Given the description of an element on the screen output the (x, y) to click on. 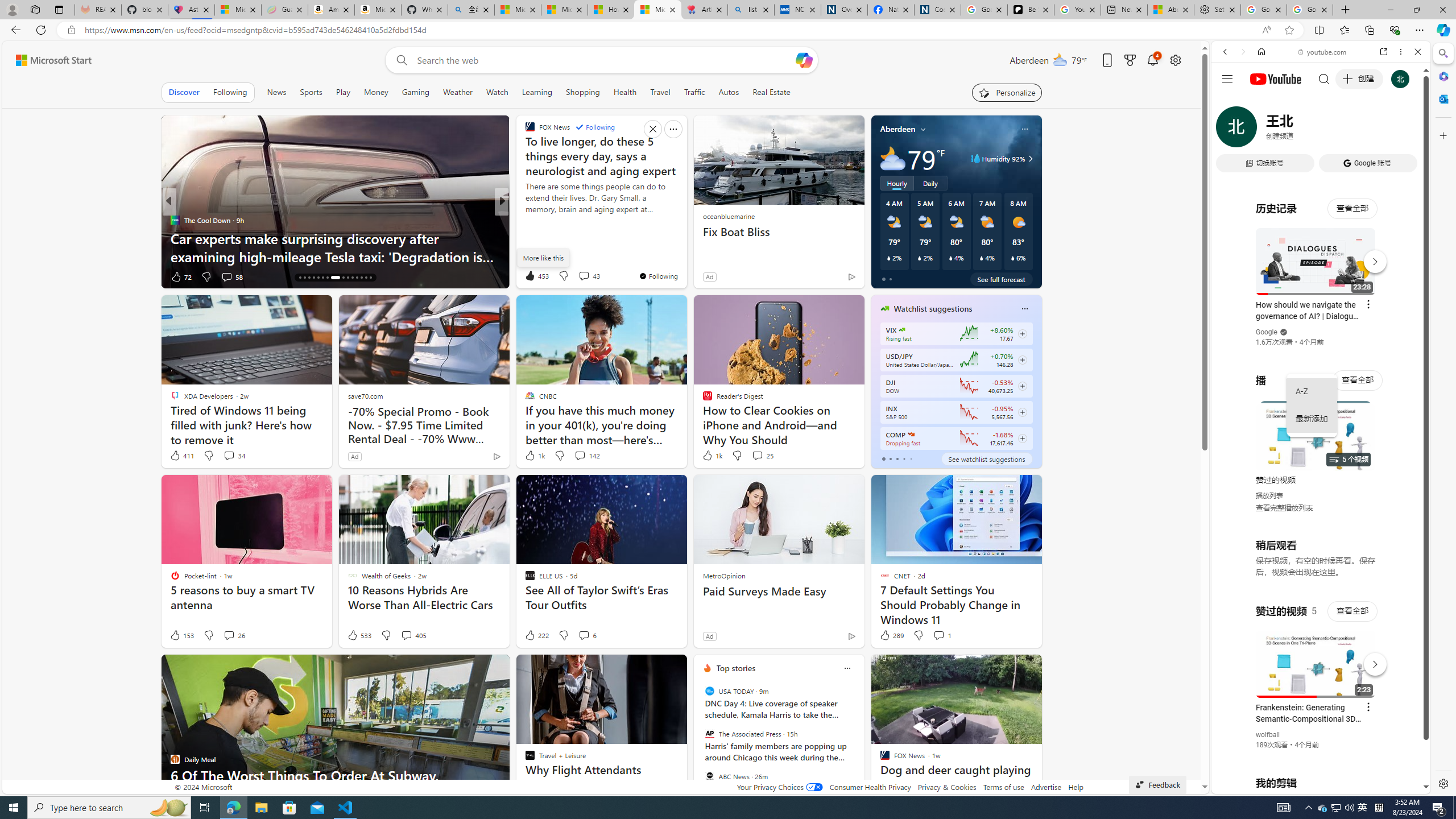
2k Like (530, 276)
323 Like (532, 276)
Cookies (937, 9)
Top stories (735, 668)
View comments 67 Comment (585, 276)
Moneywise (524, 219)
View comments 7 Comment (583, 276)
